Given the description of an element on the screen output the (x, y) to click on. 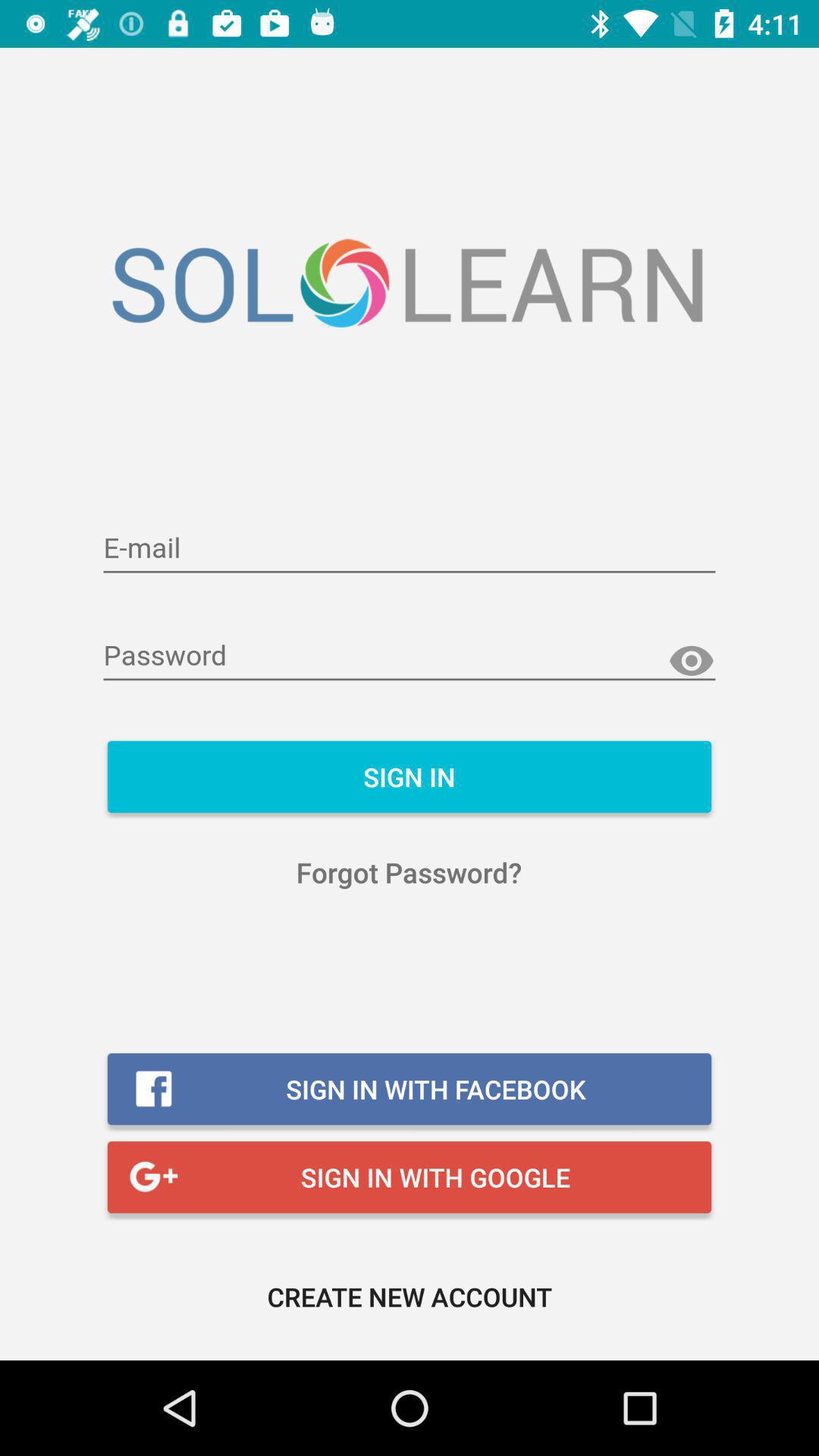
jump to the create new account icon (409, 1296)
